Given the description of an element on the screen output the (x, y) to click on. 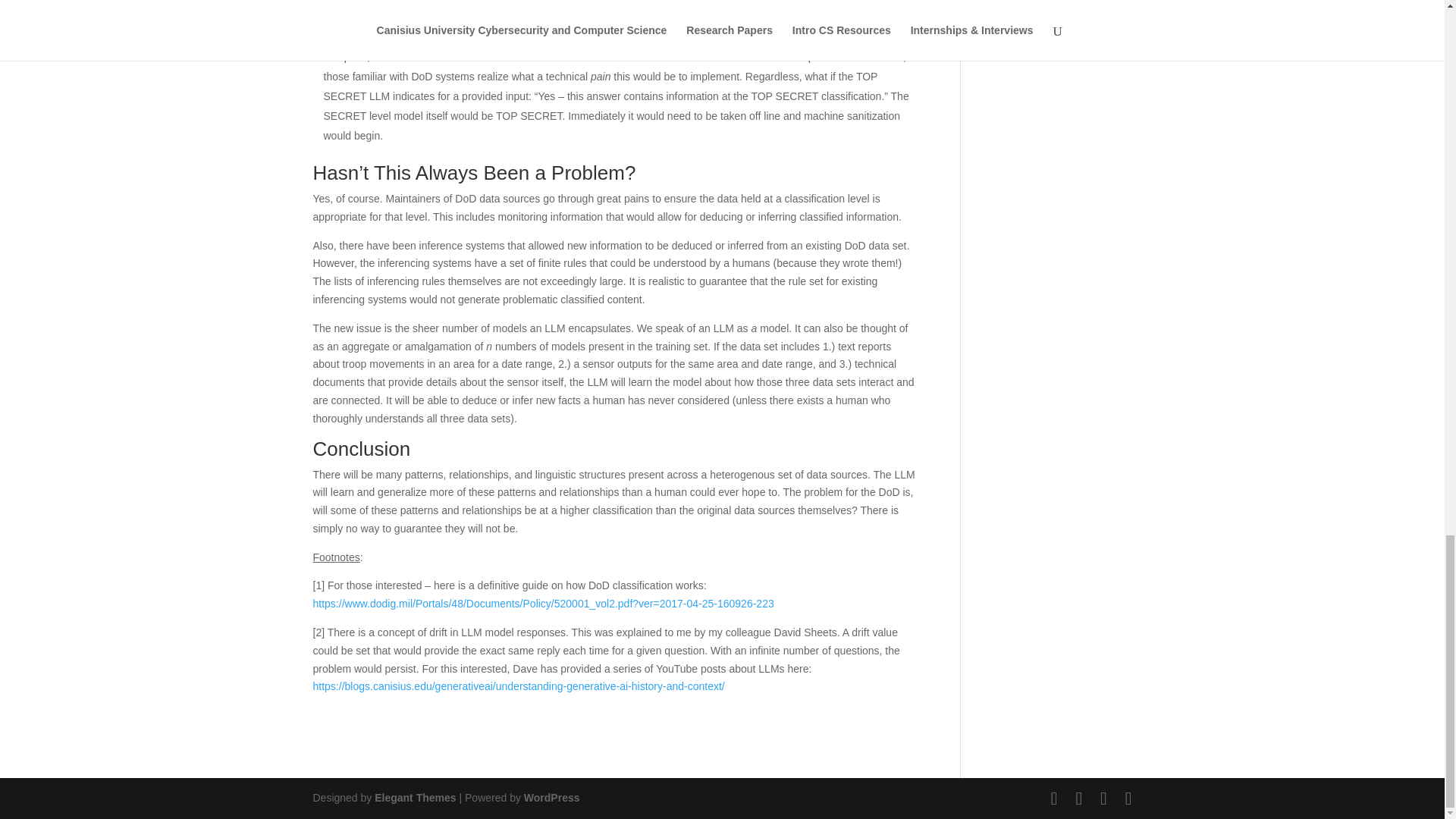
Premium WordPress Themes (414, 797)
Elegant Themes (414, 797)
WordPress (551, 797)
